Given the description of an element on the screen output the (x, y) to click on. 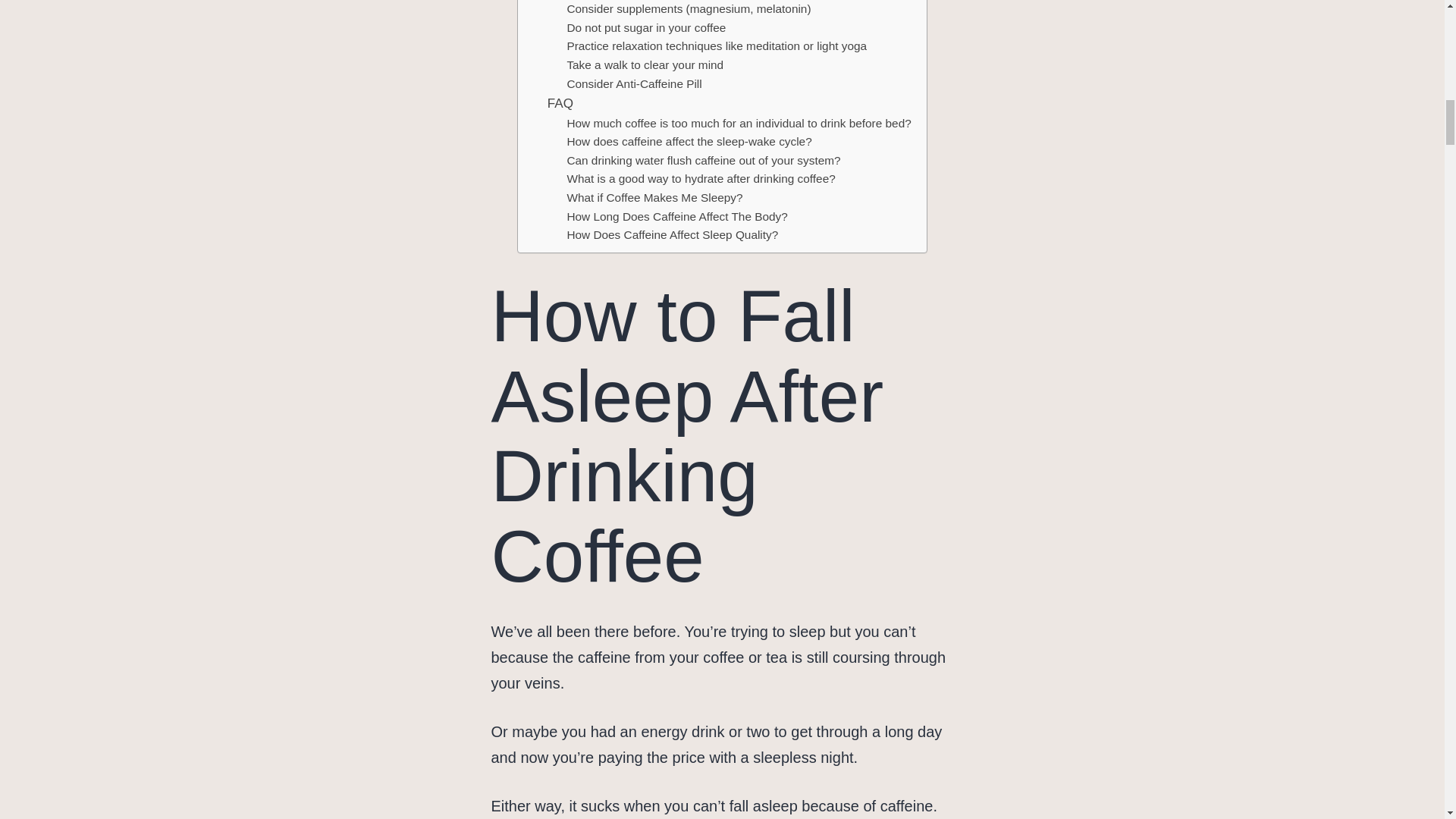
Take a walk to clear your mind (644, 65)
Do not put sugar in your coffee (645, 27)
Practice relaxation techniques like meditation or light yoga (716, 46)
